Given the description of an element on the screen output the (x, y) to click on. 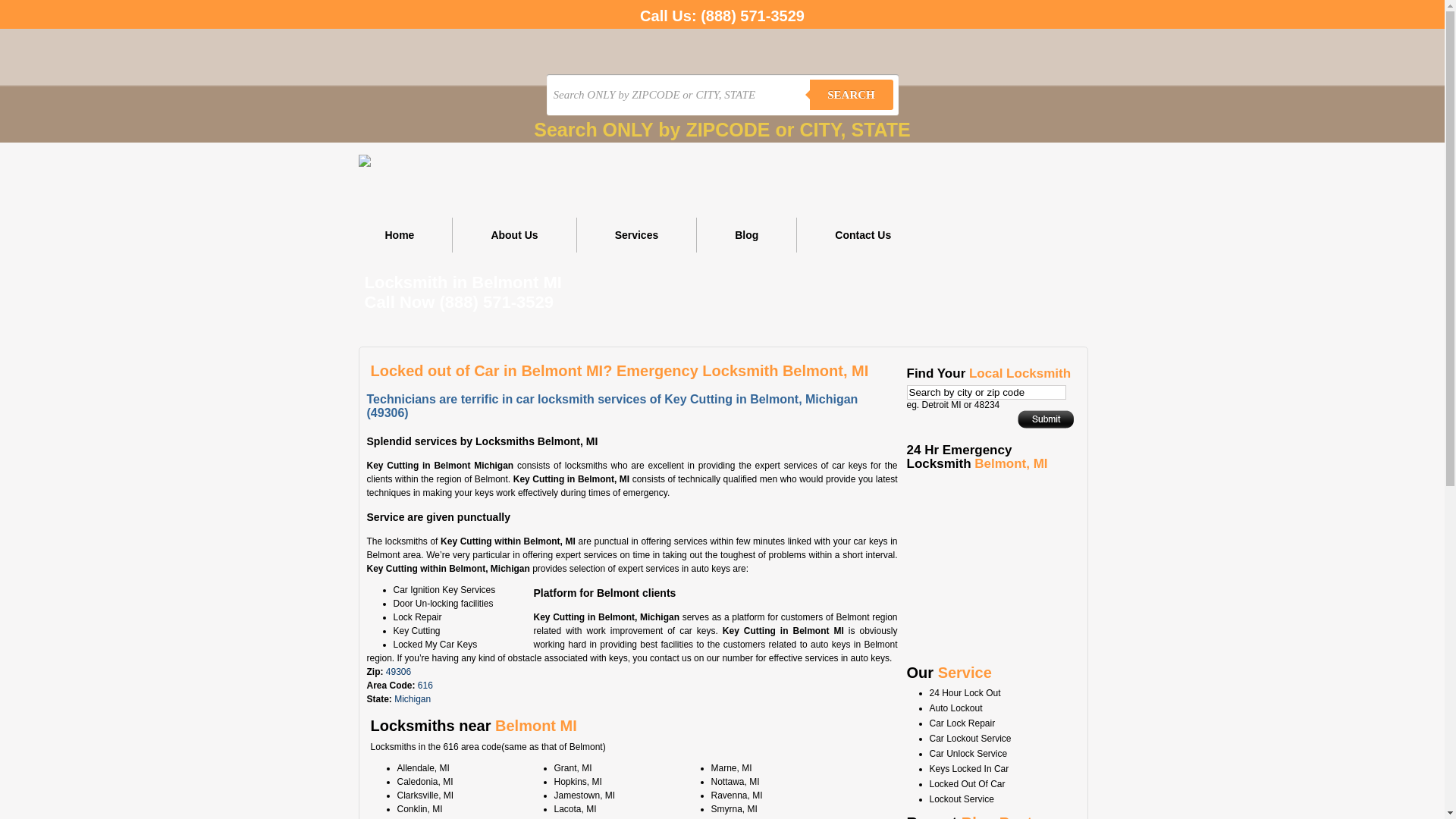
24 Hour Lock Out Element type: text (965, 692)
Lockout Service Element type: text (961, 798)
Blog Element type: text (746, 234)
Services Element type: text (637, 234)
616 Element type: text (425, 685)
Grant, MI Element type: text (572, 767)
Hopkins, MI Element type: text (577, 781)
Ravenna, MI Element type: text (736, 795)
Call Us: (888) 571-3529 Element type: text (722, 14)
Marne, MI Element type: text (731, 767)
Lacota, MI Element type: text (574, 808)
Car Lock Repair Element type: text (962, 723)
Auto Lockout Element type: text (955, 707)
Smyrna, MI Element type: text (734, 808)
Keys Locked In Car Element type: text (969, 768)
Car Unlock Service Element type: text (968, 753)
Caledonia, MI Element type: text (425, 781)
49306 Element type: text (398, 671)
Nottawa, MI Element type: text (735, 781)
Clarksville, MI Element type: text (425, 795)
Car Lockout Service Element type: text (970, 738)
Jamestown, MI Element type: text (584, 795)
Conklin, MI Element type: text (419, 808)
SEARCH Element type: text (851, 94)
Home Element type: text (400, 234)
About Us Element type: text (514, 234)
Contact Us Element type: text (862, 234)
Locked Out Of Car Element type: text (967, 783)
Allendale, MI Element type: text (423, 767)
Michigan Element type: text (412, 698)
